Given the description of an element on the screen output the (x, y) to click on. 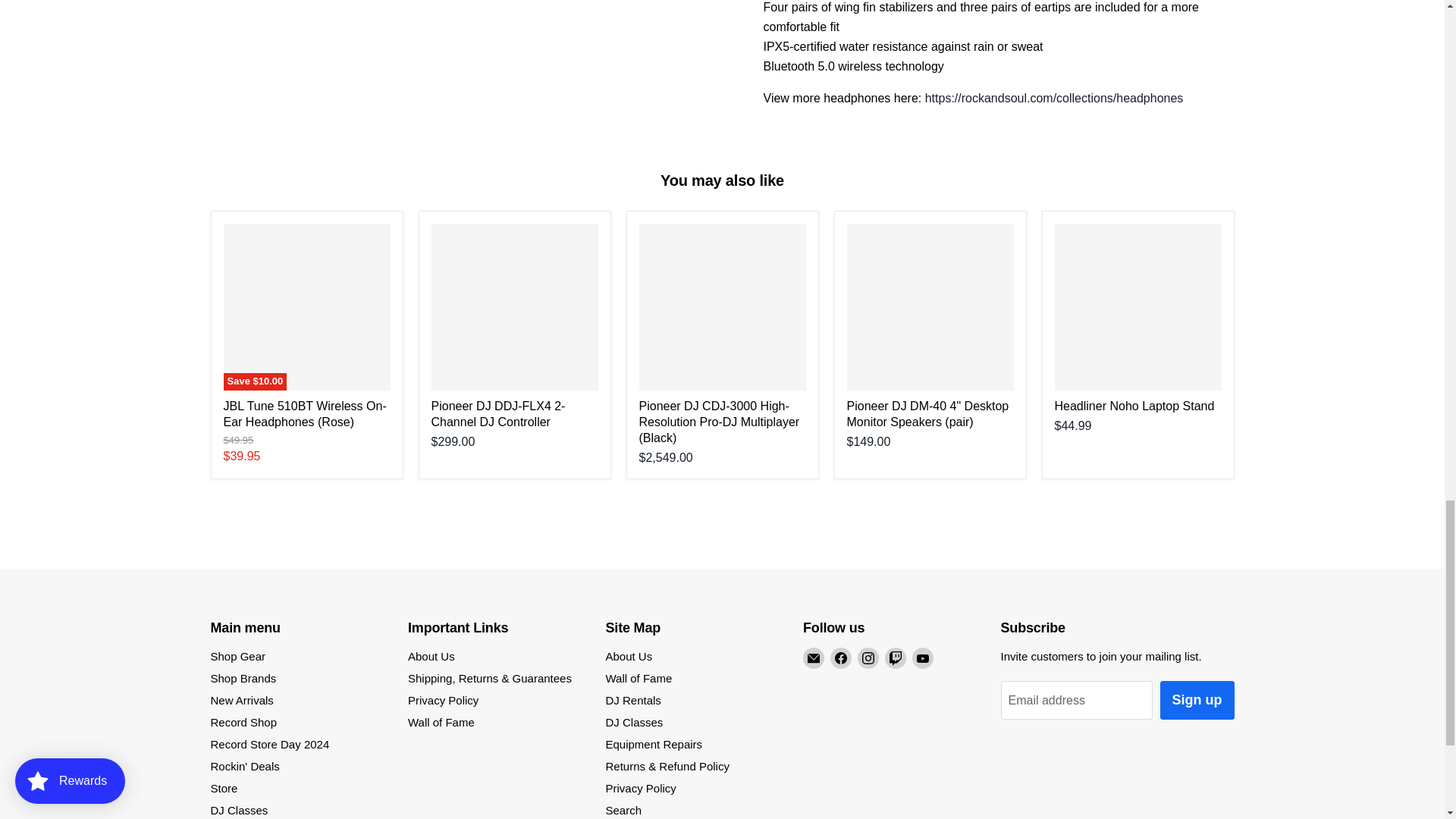
Instagram (868, 658)
YouTube (922, 658)
Twitch (895, 658)
Email (813, 658)
Facebook (840, 658)
